Given the description of an element on the screen output the (x, y) to click on. 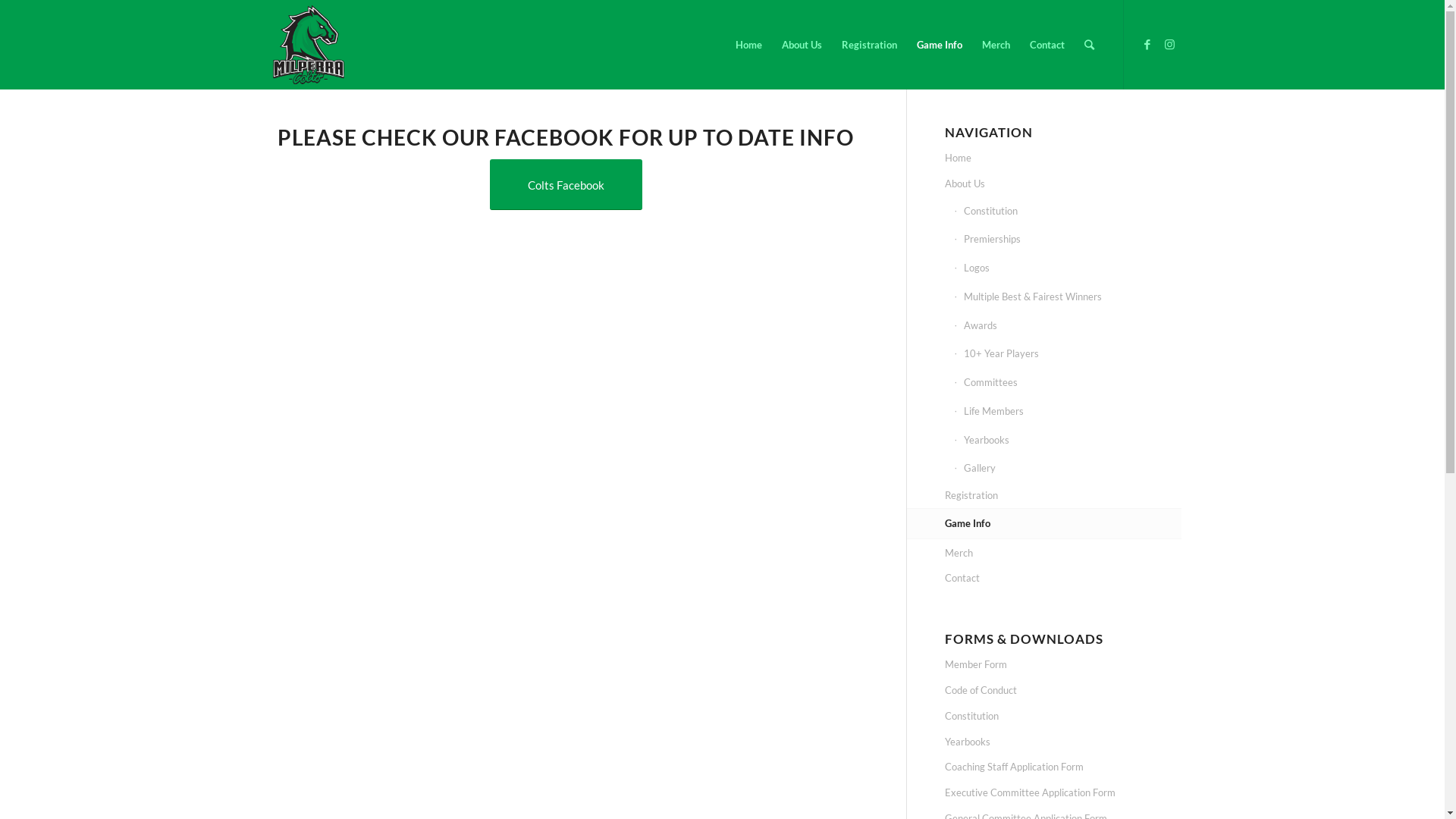
Gallery Element type: text (1066, 468)
Merch Element type: text (995, 44)
Yearbooks Element type: text (1066, 440)
Yearbooks Element type: text (1062, 742)
Premierships Element type: text (1066, 239)
Facebook Element type: hover (1146, 43)
Committees Element type: text (1066, 382)
Coaching Staff Application Form Element type: text (1062, 767)
Logos Element type: text (1066, 268)
Colts Facebook Element type: text (565, 184)
Life Members Element type: text (1066, 411)
10+ Year Players Element type: text (1066, 353)
Game Info Element type: text (1062, 523)
Multiple Best & Fairest Winners Element type: text (1066, 296)
Registration Element type: text (1062, 495)
Member Form Element type: text (1062, 664)
Code of Conduct Element type: text (1062, 690)
Contact Element type: text (1046, 44)
Registration Element type: text (868, 44)
Instagram Element type: hover (1169, 43)
Contact Element type: text (1062, 578)
Awards Element type: text (1066, 325)
Home Element type: text (1062, 158)
Home Element type: text (747, 44)
About Us Element type: text (801, 44)
Constitution Element type: text (1062, 716)
Merch Element type: text (1062, 553)
Game Info Element type: text (939, 44)
About Us Element type: text (1062, 184)
Constitution Element type: text (1066, 211)
Executive Committee Application Form Element type: text (1062, 793)
